Given the description of an element on the screen output the (x, y) to click on. 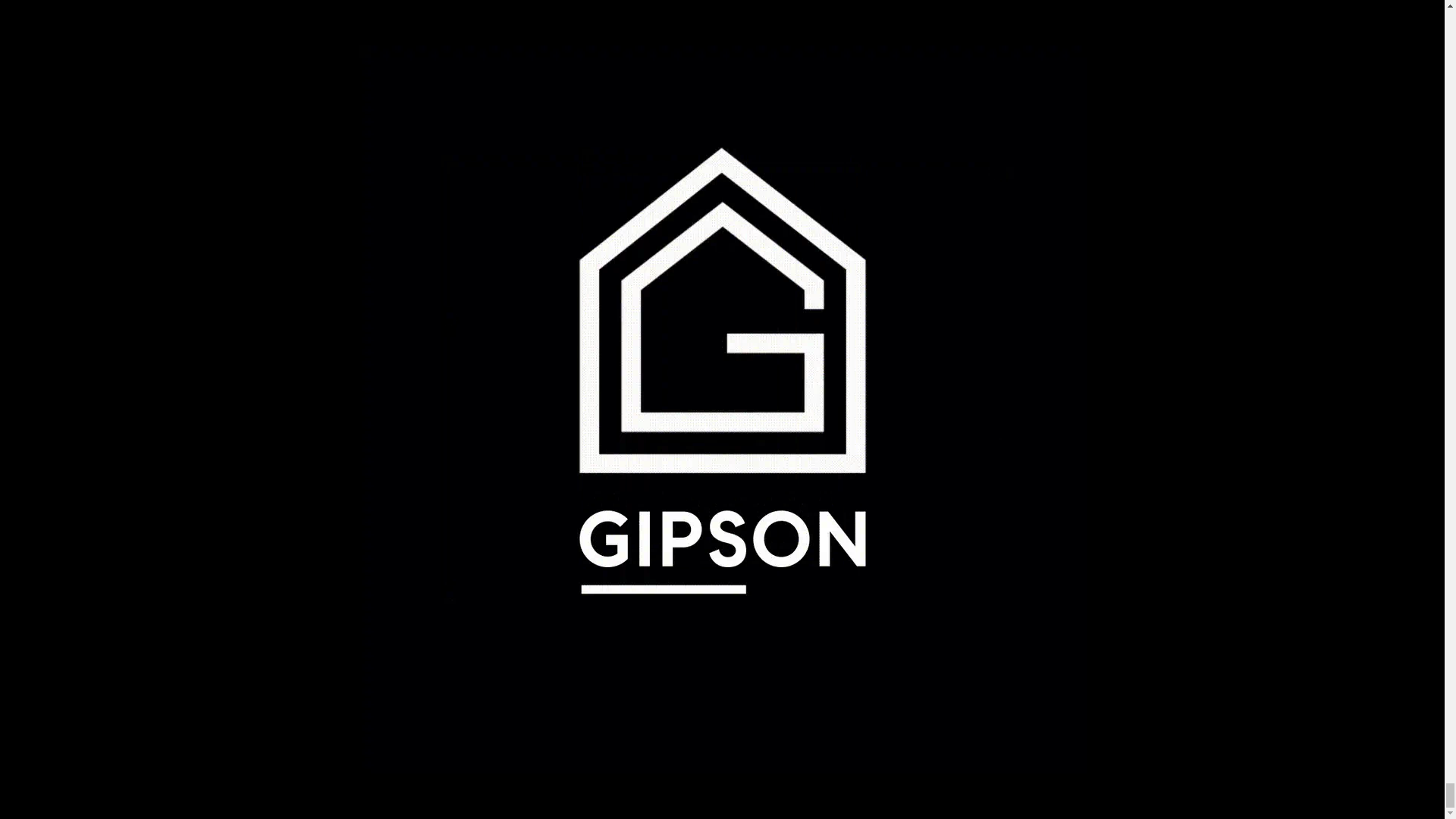
on (802, 429)
